Given the description of an element on the screen output the (x, y) to click on. 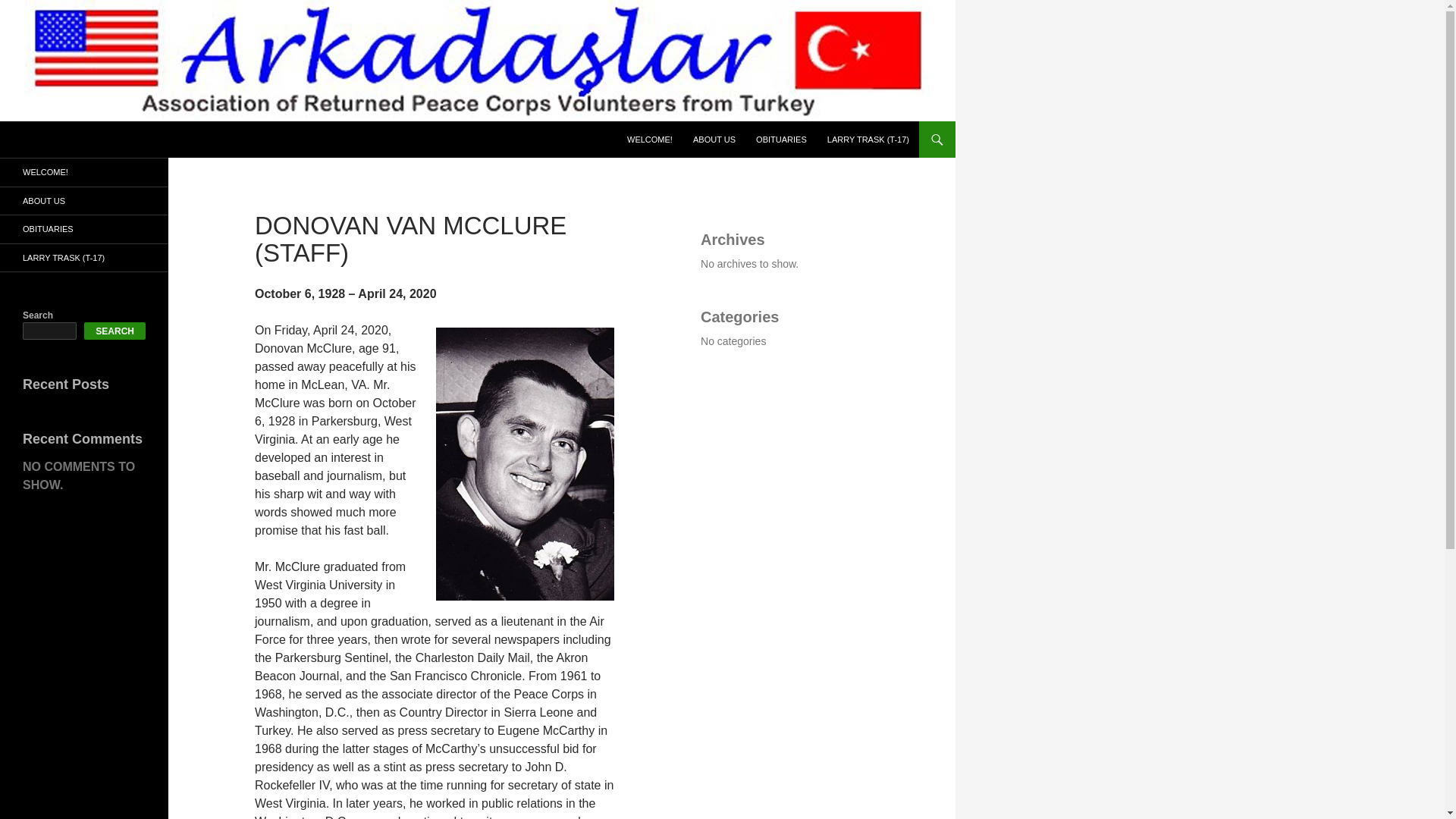
OBITUARIES (84, 229)
Arkadaslar (58, 139)
OBITUARIES (780, 139)
WELCOME! (84, 172)
WELCOME! (649, 139)
ABOUT US (714, 139)
ABOUT US (84, 200)
SEARCH (114, 330)
